Given the description of an element on the screen output the (x, y) to click on. 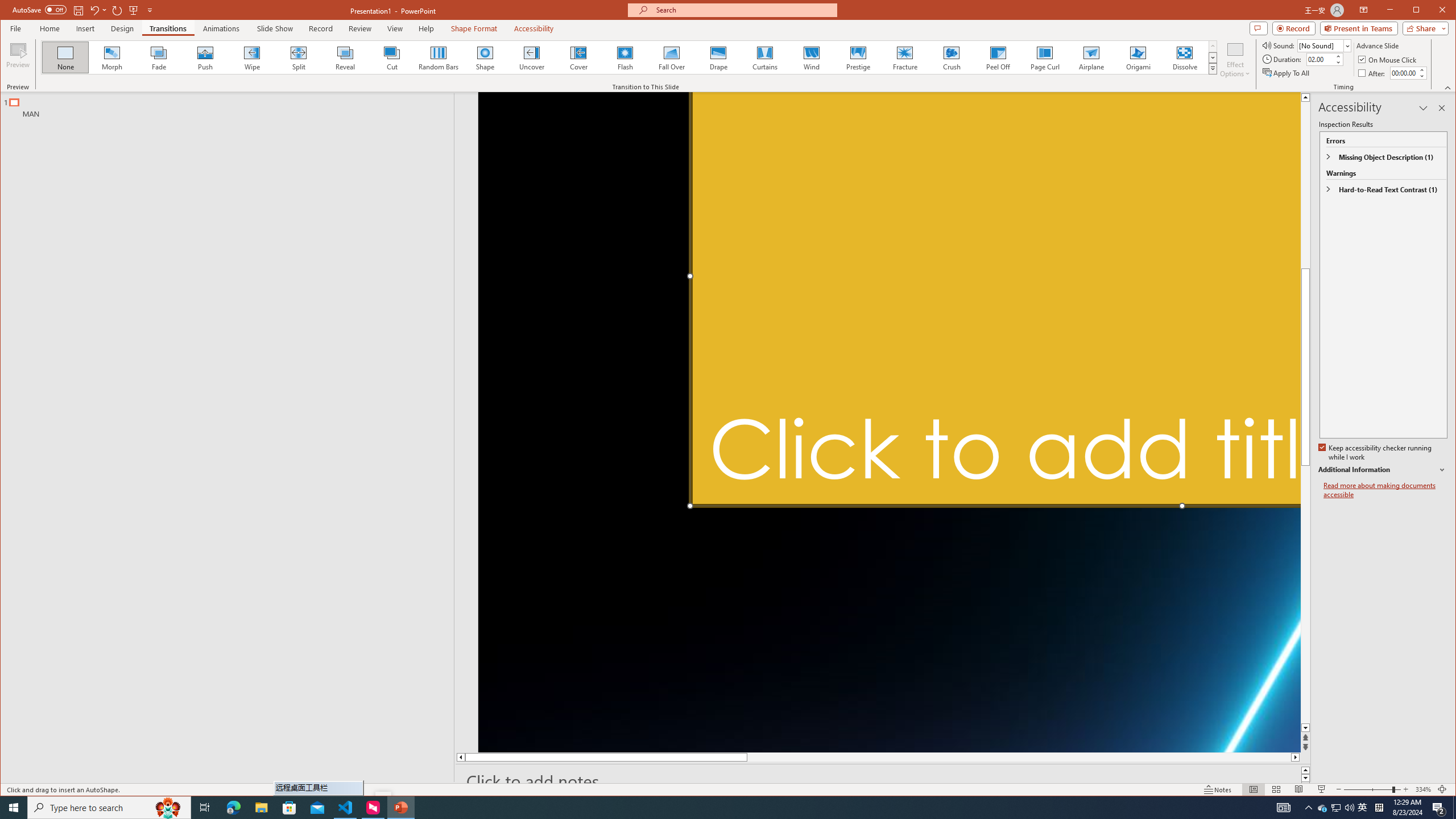
Shape Format (473, 28)
Reveal (344, 57)
Peel Off (998, 57)
Running applications (700, 807)
